Given the description of an element on the screen output the (x, y) to click on. 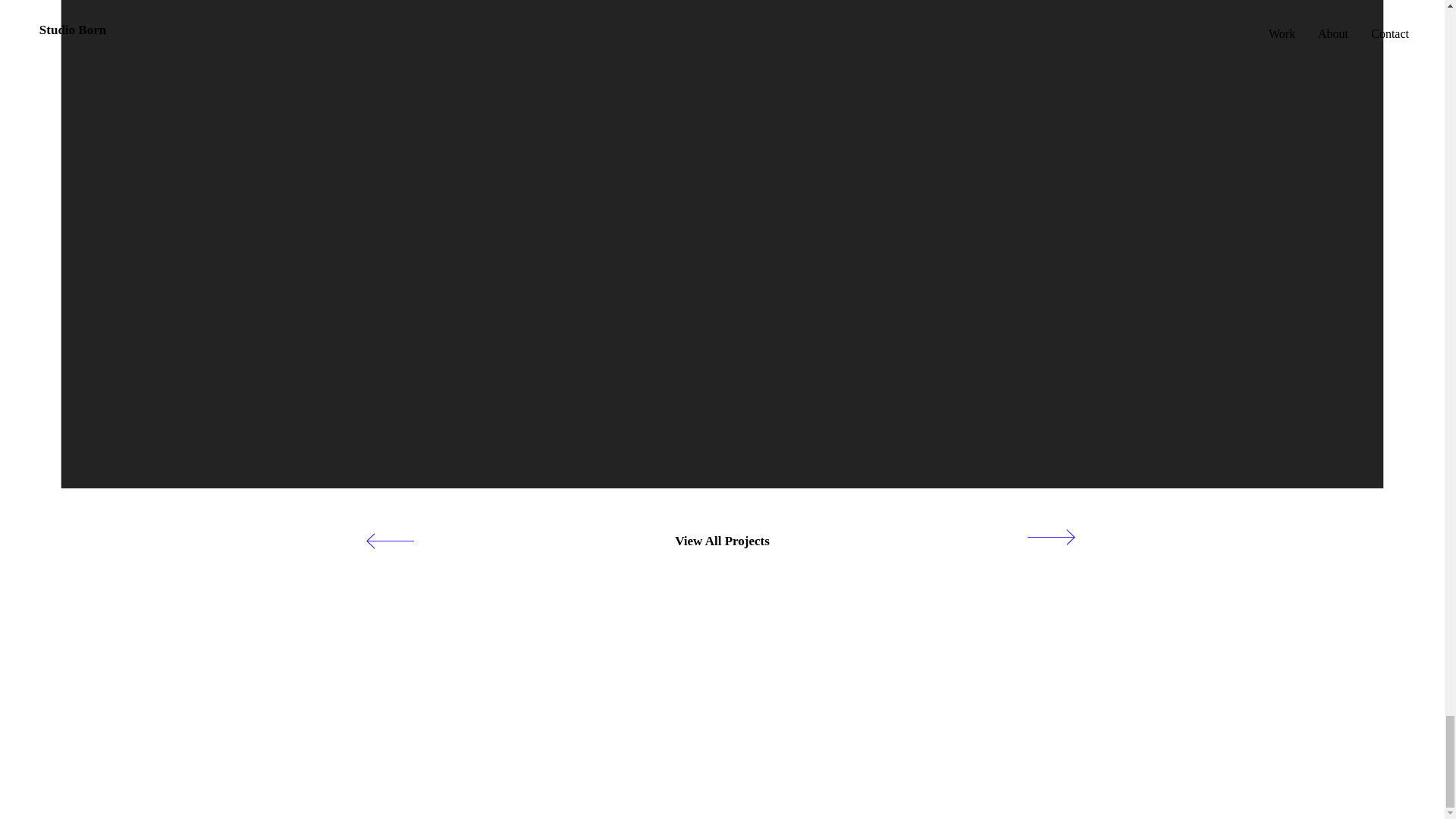
View All Projects (722, 541)
